Given the description of an element on the screen output the (x, y) to click on. 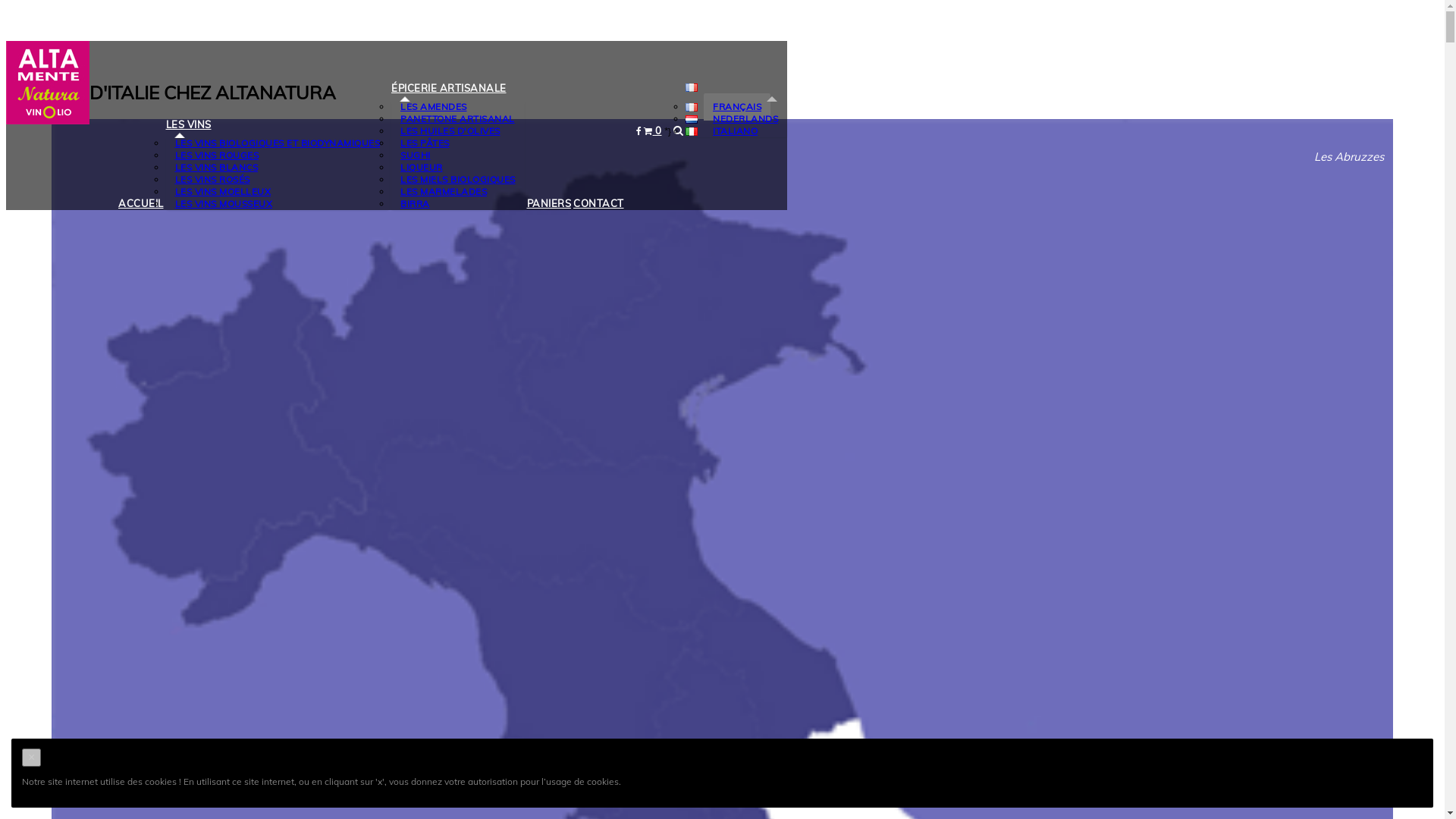
LES VINS MOUSSEUX Element type: text (223, 203)
LES MARMELADES Element type: text (443, 191)
SUGHI Element type: text (415, 155)
ITALIANO Element type: text (734, 130)
PANIERS Element type: text (548, 203)
Carrelage Revoir Paris Element type: hover (47, 82)
0 Element type: text (652, 130)
LES VINS BIOLOGIQUES ET BIODYNAMIQUES Element type: text (277, 142)
LES VINS MOELLEUX Element type: text (222, 191)
LIQUEUR Element type: text (421, 167)
LES VINS Element type: text (187, 124)
LES MIELS BIOLOGIQUES Element type: text (457, 179)
BIRRA Element type: text (415, 203)
LES VINS BLANCS Element type: text (215, 167)
NEDERLANDS Element type: text (745, 118)
CONTACT Element type: text (598, 203)
LES HUILES D'OLIVES Element type: text (450, 130)
LES AMENDES Element type: text (433, 106)
LES VINS ROUGES Element type: text (216, 155)
ACCUEIL Element type: text (140, 203)
PANETTONE ARTISANAL Element type: text (457, 118)
